Given the description of an element on the screen output the (x, y) to click on. 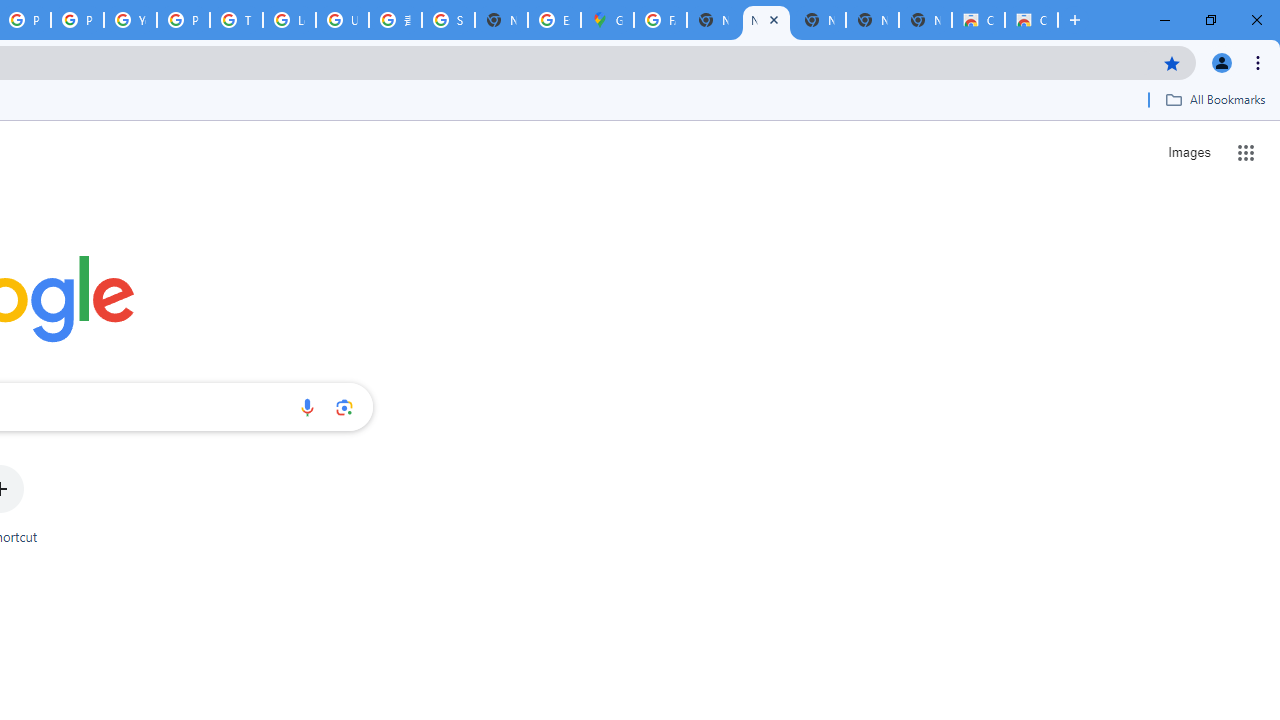
Tips & tricks for Chrome - Google Chrome Help (235, 20)
Classic Blue - Chrome Web Store (978, 20)
YouTube (130, 20)
New Tab (501, 20)
Search for Images  (1188, 152)
New Tab (925, 20)
Google Maps (607, 20)
Sign in - Google Accounts (448, 20)
Explore new street-level details - Google Maps Help (554, 20)
